Given the description of an element on the screen output the (x, y) to click on. 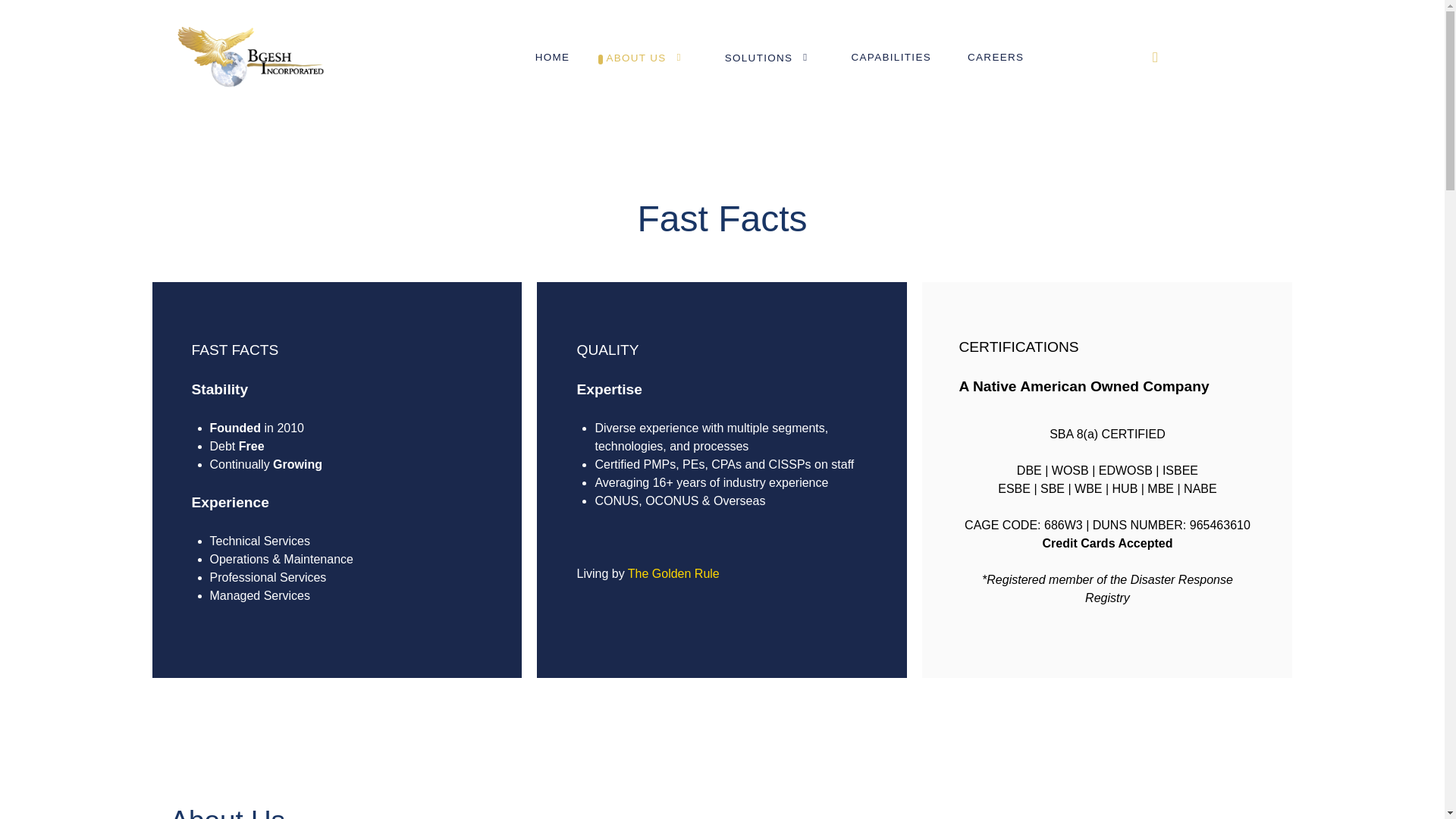
ABOUT US (647, 57)
The Golden Rule (673, 573)
SOLUTIONS (769, 57)
The Golden Rule (673, 573)
CAREERS (995, 57)
HOME (552, 57)
CAPABILITIES (890, 57)
